Given the description of an element on the screen output the (x, y) to click on. 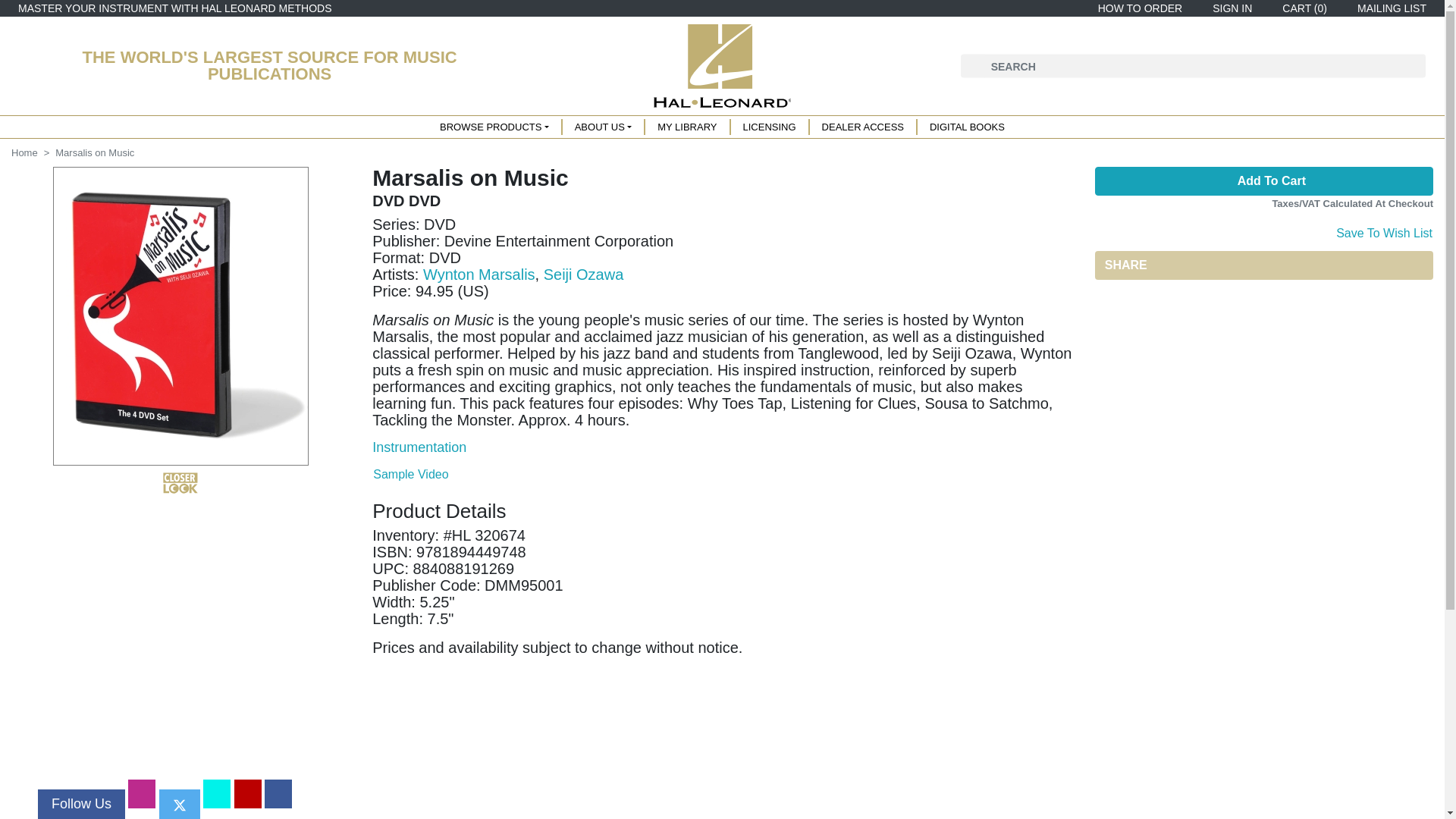
MAILING LIST (1388, 8)
HOW TO ORDER (1137, 8)
MASTER YOUR INSTRUMENT WITH HAL LEONARD METHODS (174, 8)
Closer Look (180, 482)
SIGN IN (1229, 8)
Add to Cart (1263, 181)
Add to Wish List (1383, 231)
